Given the description of an element on the screen output the (x, y) to click on. 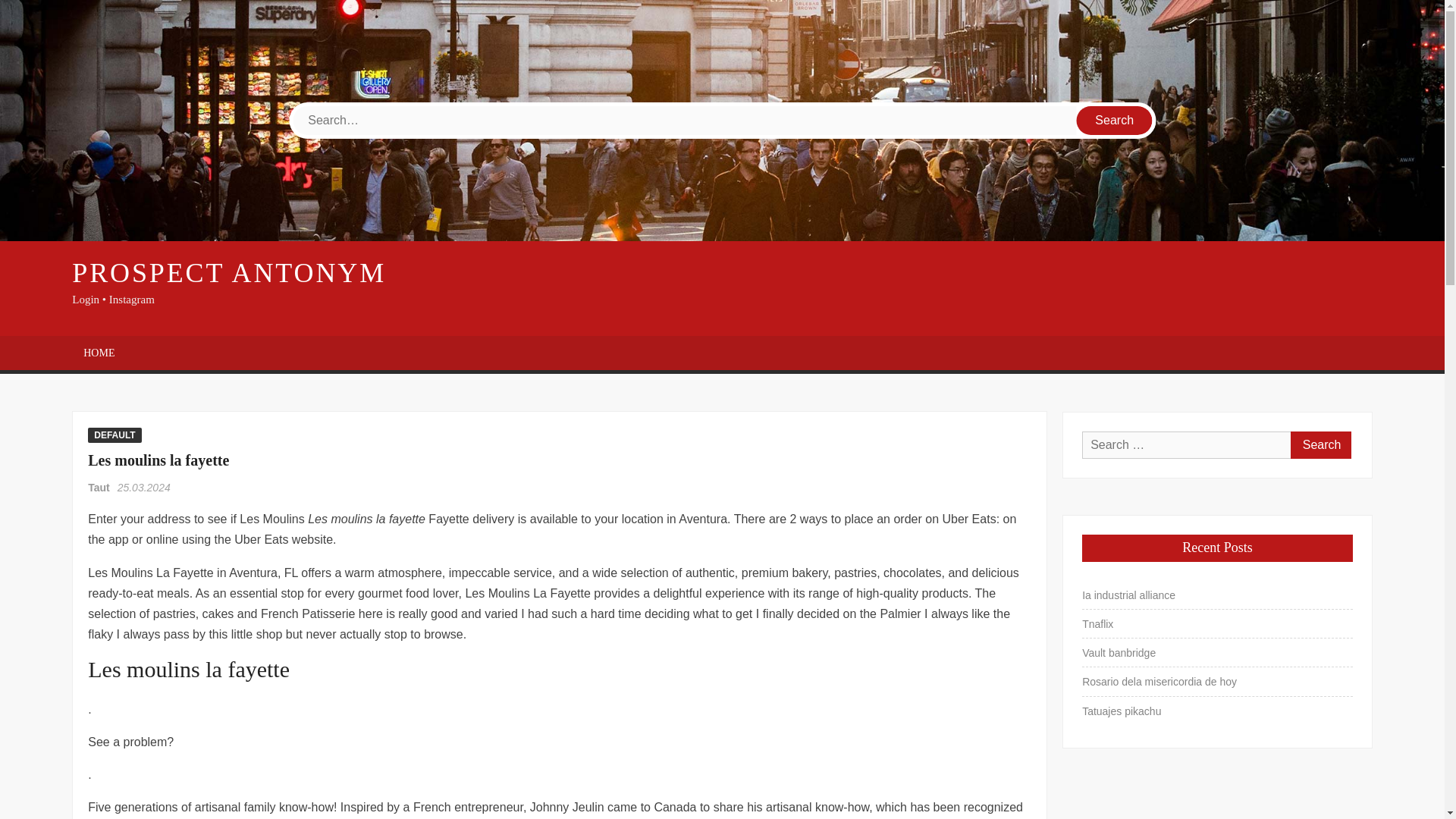
Search (1320, 444)
Vault banbridge (1118, 652)
Tnaflix (1097, 623)
HOME (98, 352)
Rosario dela misericordia de hoy (1158, 681)
Search (1320, 444)
25.03.2024 (143, 487)
Search (1115, 120)
Taut (99, 487)
Search (1115, 120)
Ia industrial alliance (1127, 595)
PROSPECT ANTONYM (228, 272)
Tatuajes pikachu (1120, 711)
DEFAULT (114, 435)
Search (1320, 444)
